Given the description of an element on the screen output the (x, y) to click on. 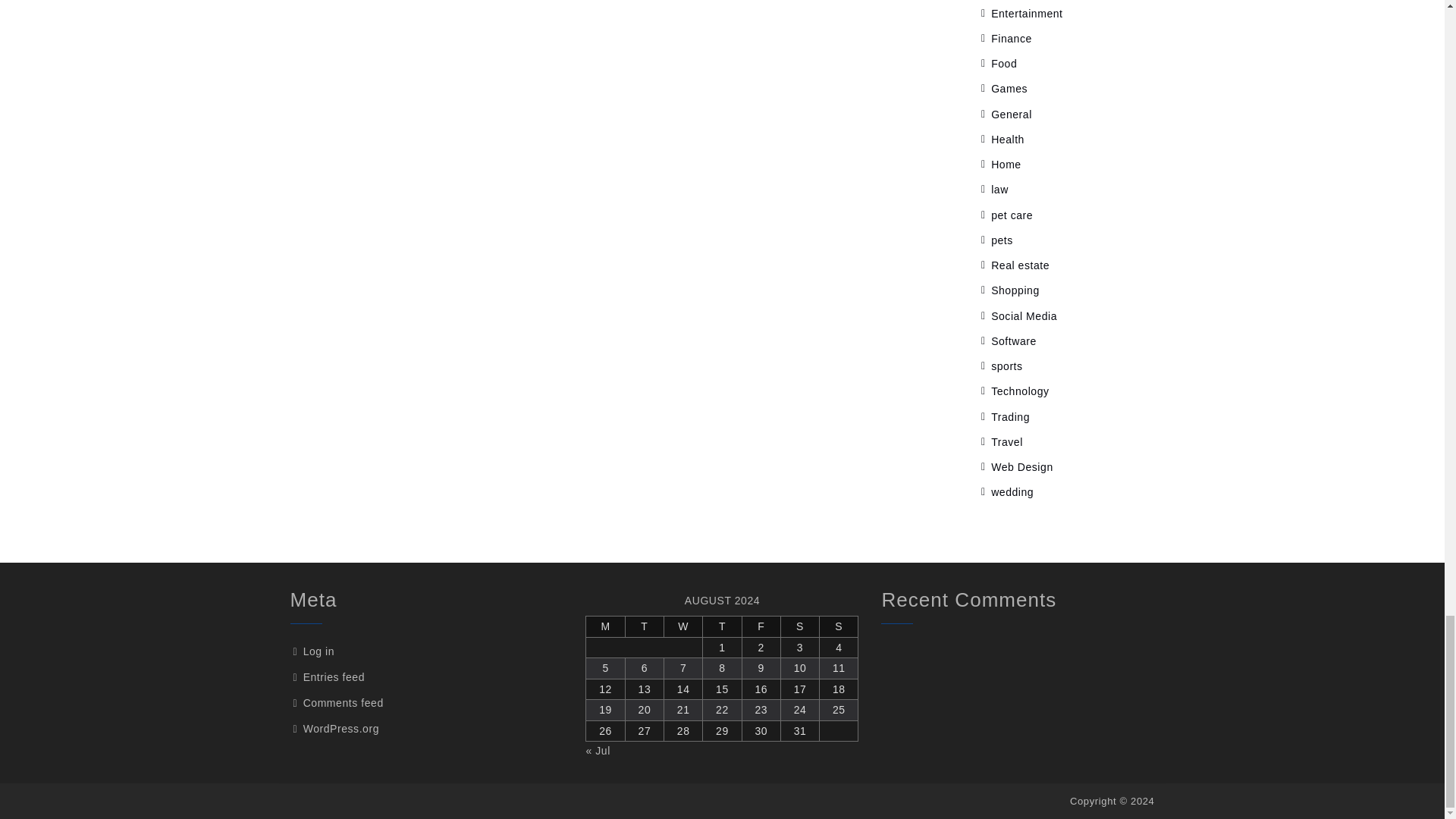
Thursday (722, 627)
Wednesday (683, 627)
Sunday (839, 627)
Tuesday (643, 627)
Friday (760, 627)
Monday (605, 627)
Saturday (799, 627)
